Given the description of an element on the screen output the (x, y) to click on. 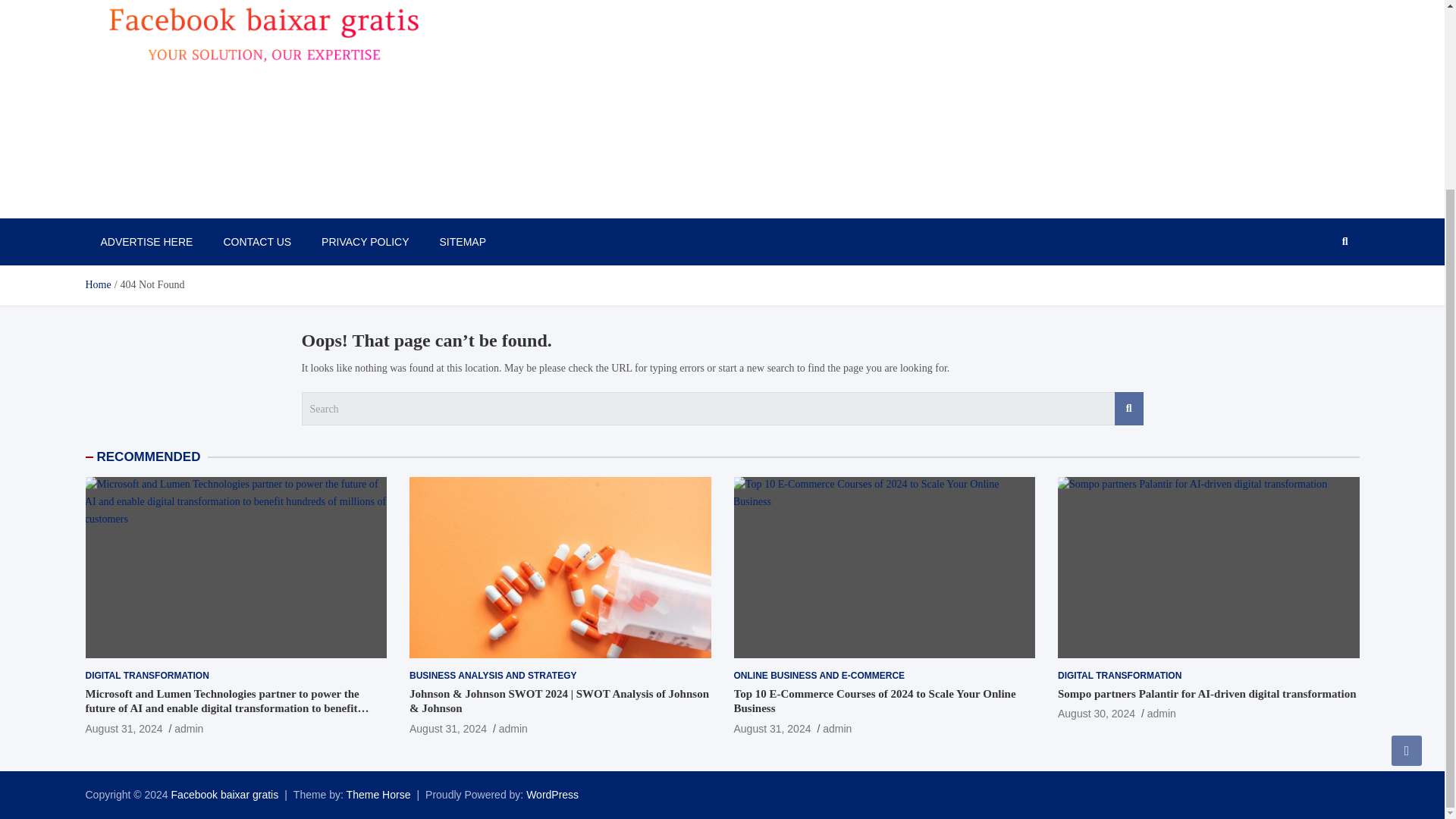
DIGITAL TRANSFORMATION (1119, 676)
August 30, 2024 (1096, 713)
Facebook baixar gratis (225, 794)
WordPress (551, 794)
August 31, 2024 (122, 728)
Sompo partners Palantir for AI-driven digital transformation (1207, 567)
August 31, 2024 (447, 728)
Theme Horse (378, 794)
PRIVACY POLICY (364, 241)
admin (188, 728)
